Given the description of an element on the screen output the (x, y) to click on. 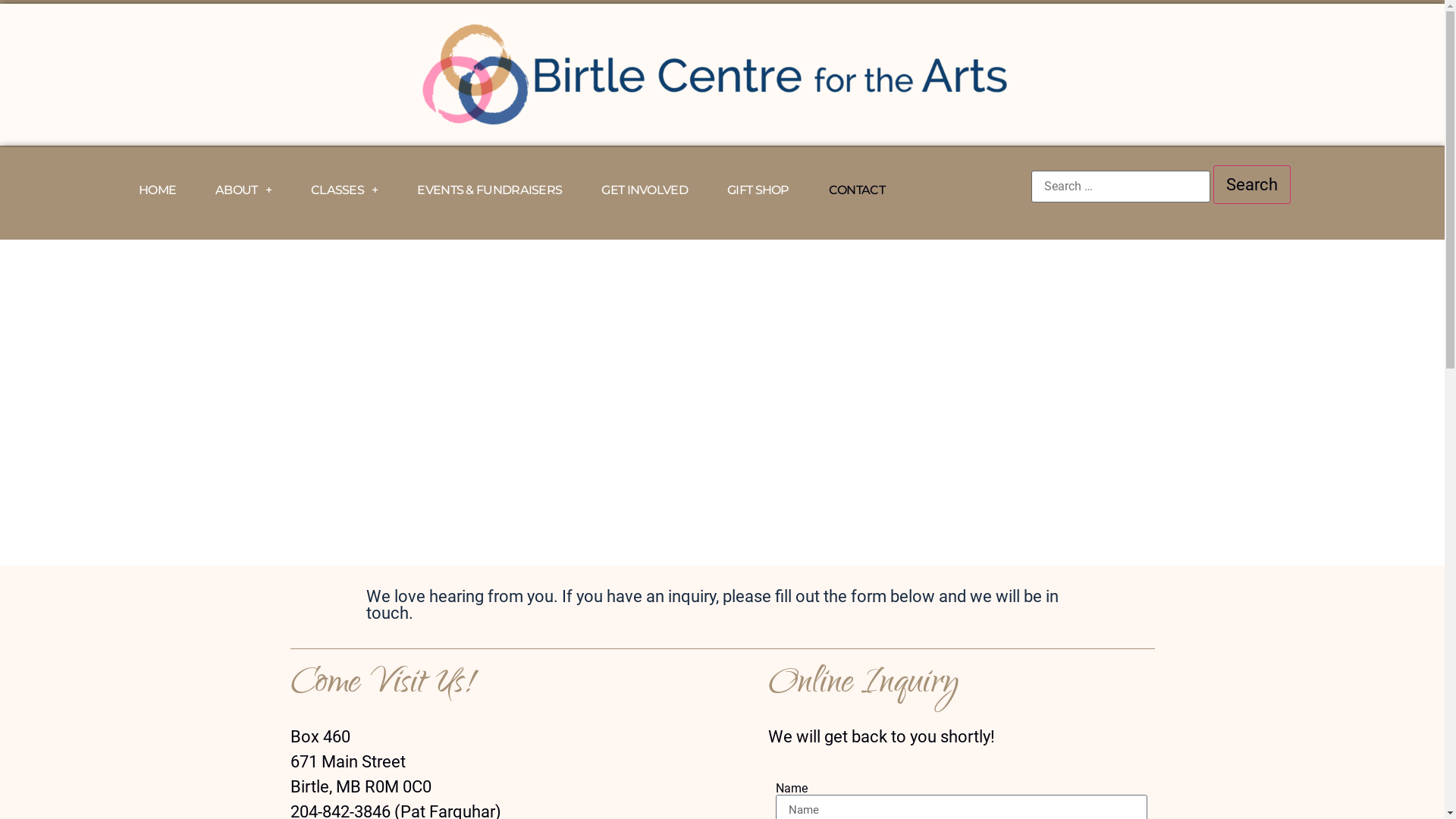
CLASSES Element type: text (343, 189)
HOME Element type: text (156, 189)
EVENTS & FUNDRAISERS Element type: text (489, 189)
GIFT SHOP Element type: text (758, 189)
CONTACT Element type: text (856, 189)
GET INVOLVED Element type: text (644, 189)
ABOUT Element type: text (243, 189)
Search Element type: text (1251, 184)
